Given the description of an element on the screen output the (x, y) to click on. 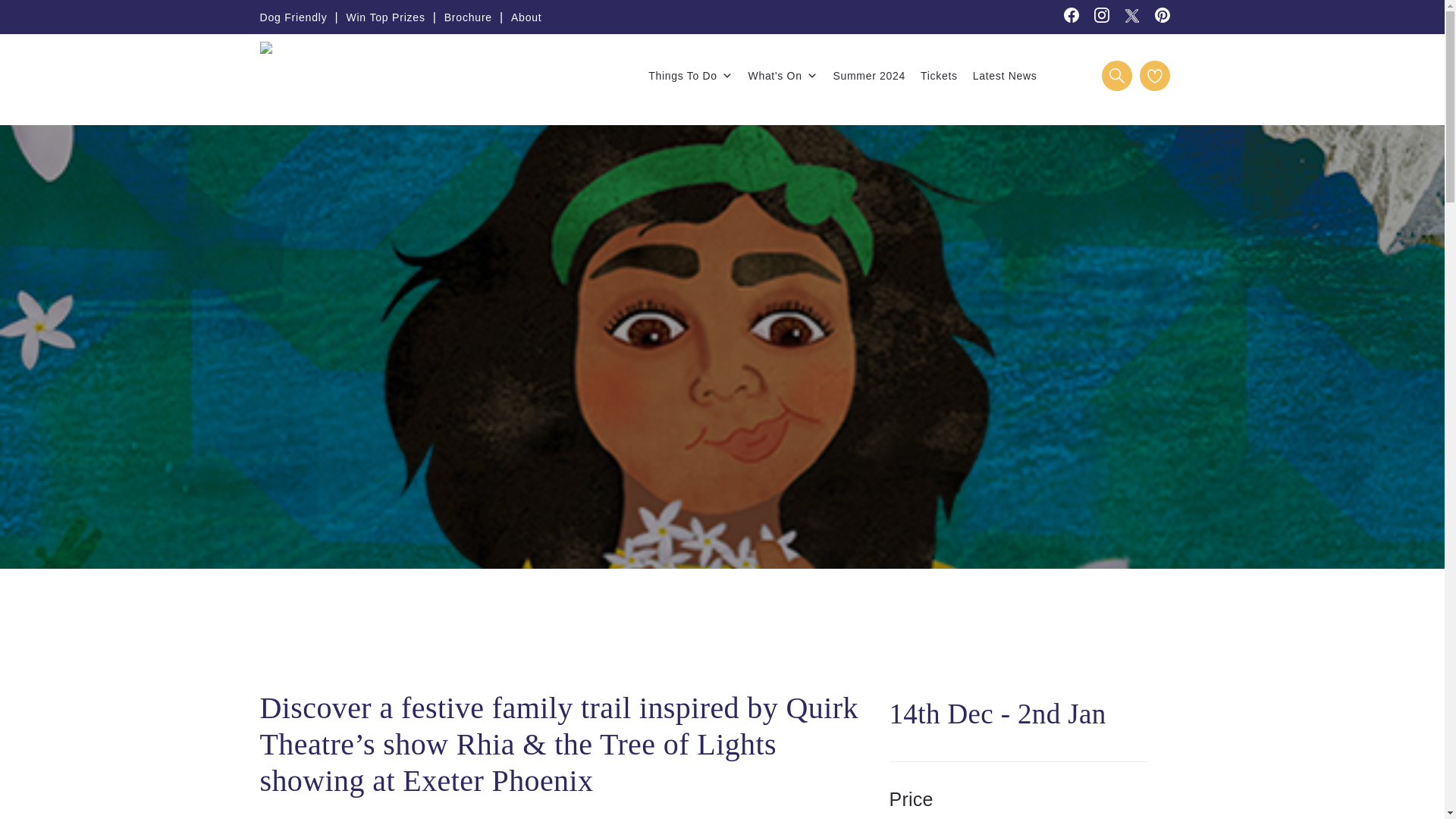
Win Top Prizes (385, 16)
Things To Do (689, 75)
My Favourites (1153, 75)
About (526, 16)
Dog Friendly (292, 16)
Brochure (468, 16)
